Given the description of an element on the screen output the (x, y) to click on. 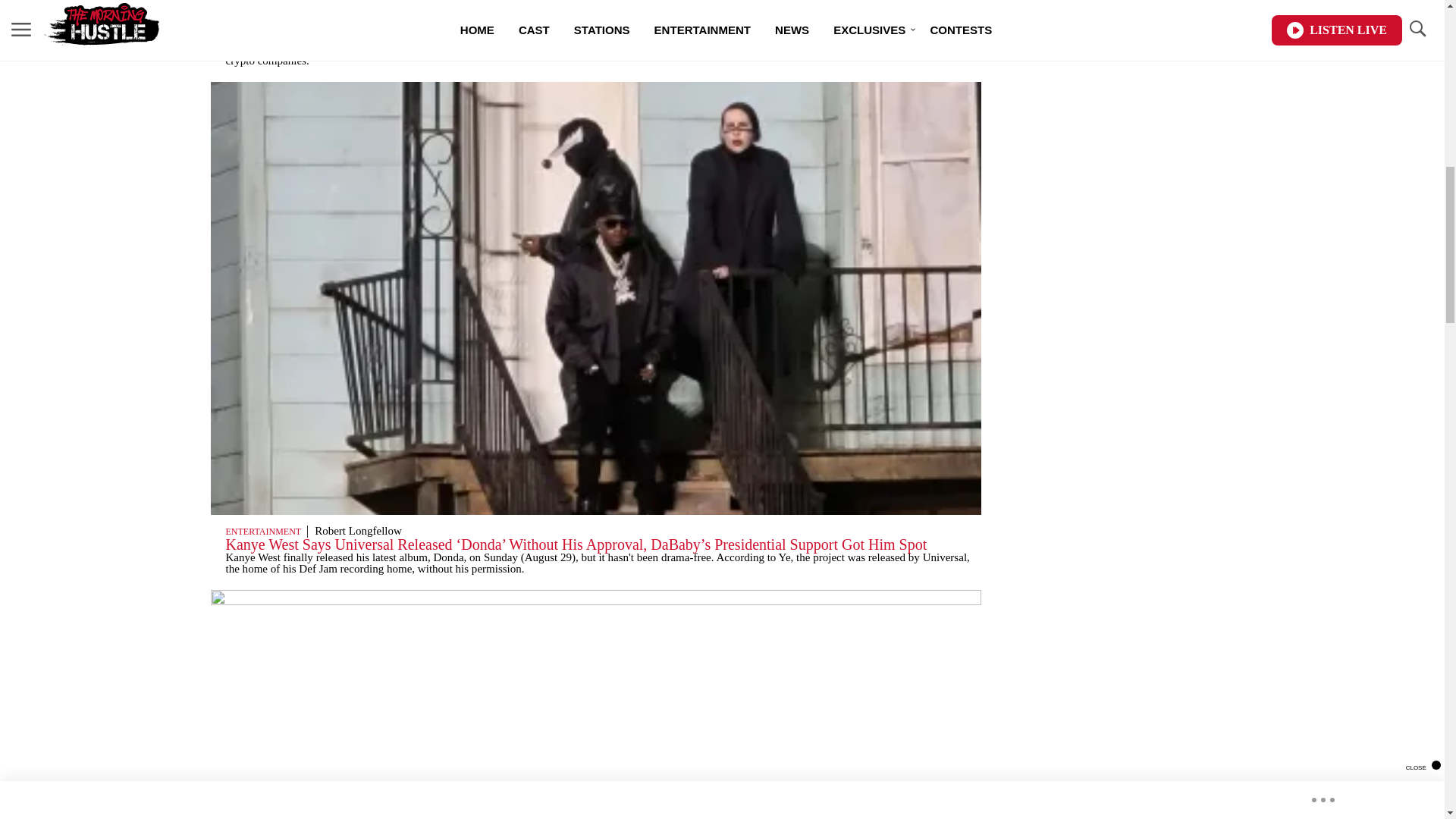
CELEBRITY NEWS (264, 23)
ENTERTAINMENT (263, 531)
Matty Willz (344, 22)
